Given the description of an element on the screen output the (x, y) to click on. 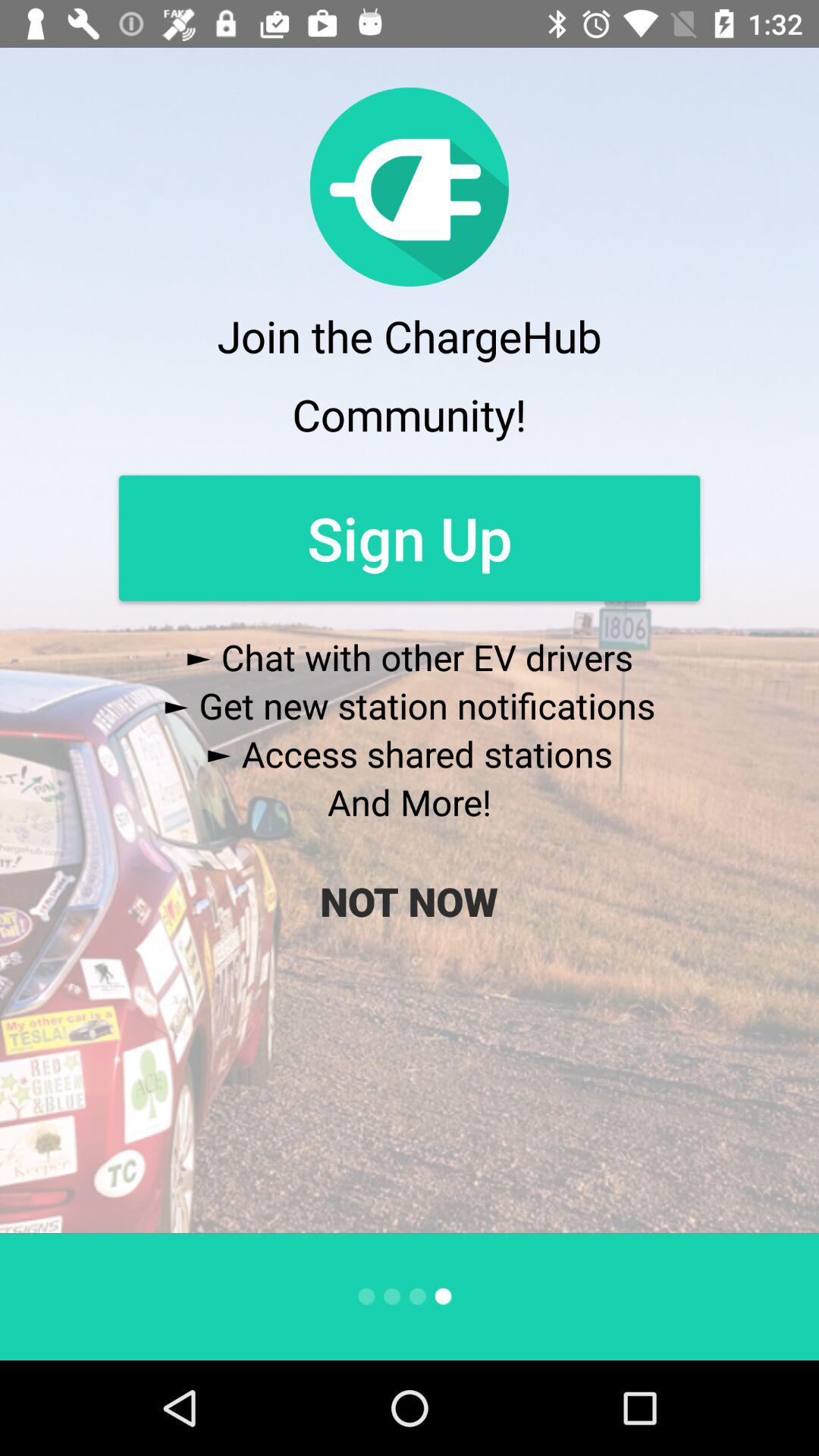
click the not now (409, 901)
